Given the description of an element on the screen output the (x, y) to click on. 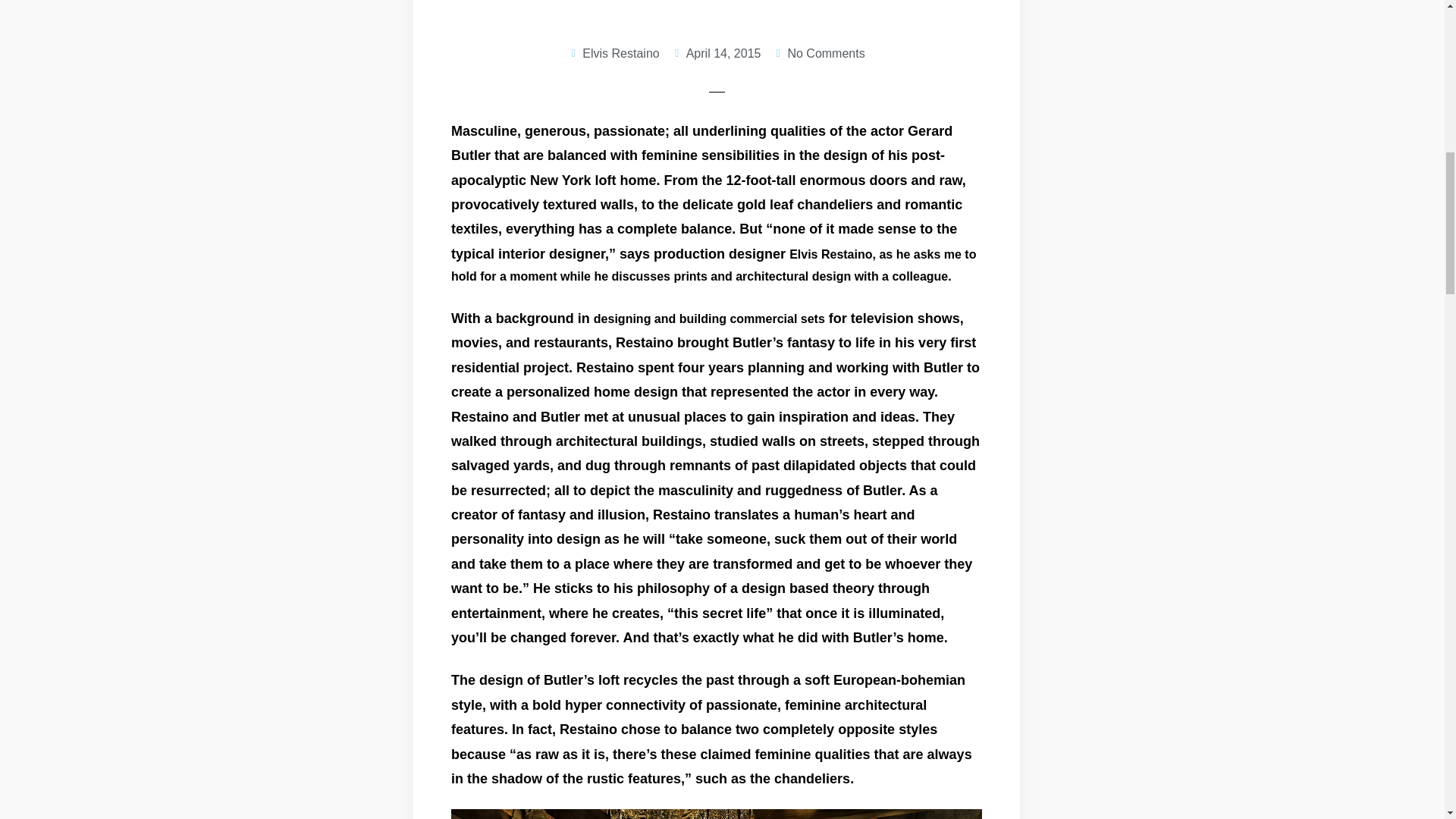
April 14, 2015 (716, 54)
No Comments (818, 54)
Elvis Restaino (613, 54)
